Given the description of an element on the screen output the (x, y) to click on. 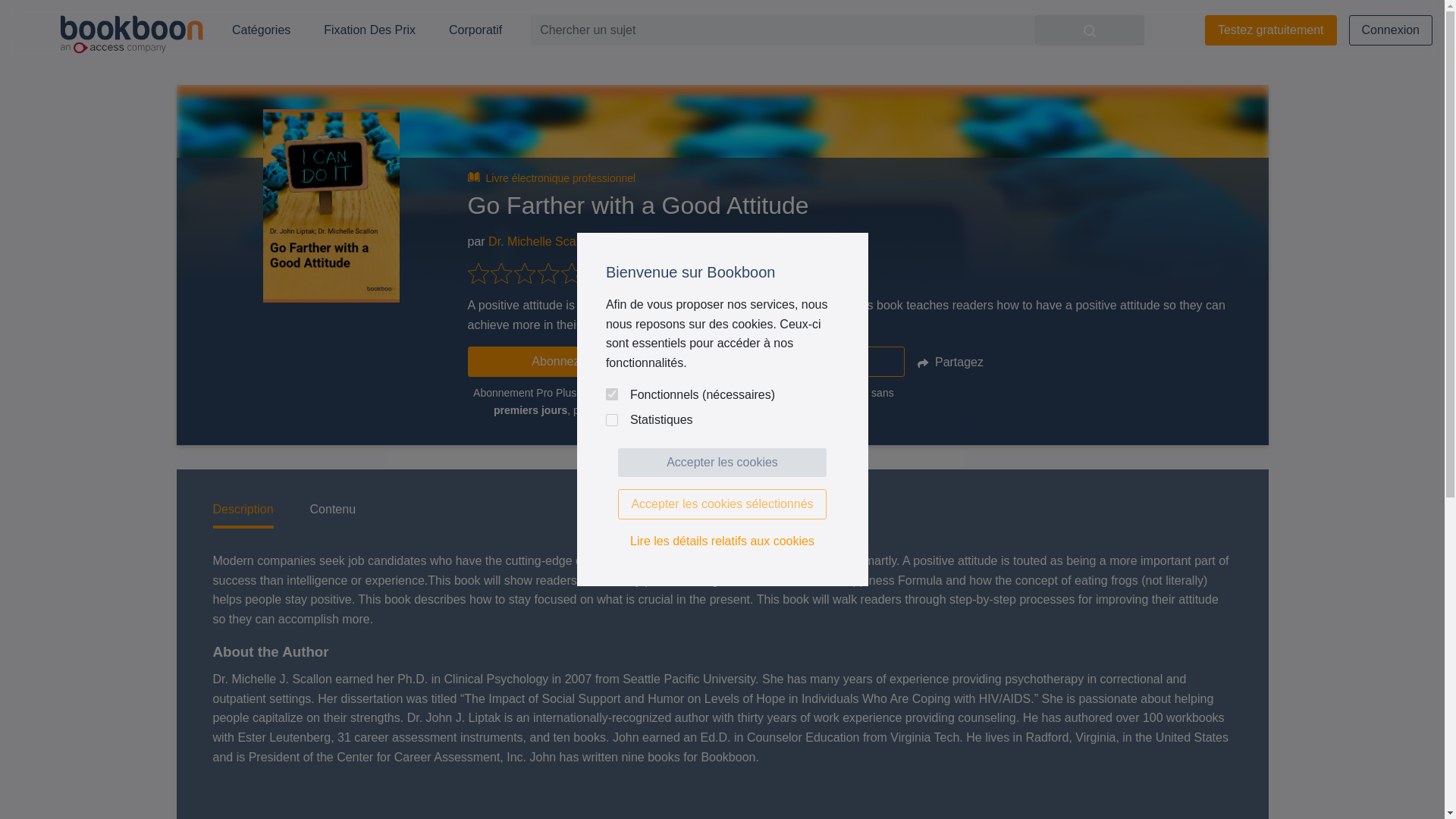
STATISTICAL (611, 419)
Fixation Des Prix (369, 30)
FUNCTIONAL (611, 394)
Accepter les cookies (722, 461)
Corporatif (475, 30)
